Given the description of an element on the screen output the (x, y) to click on. 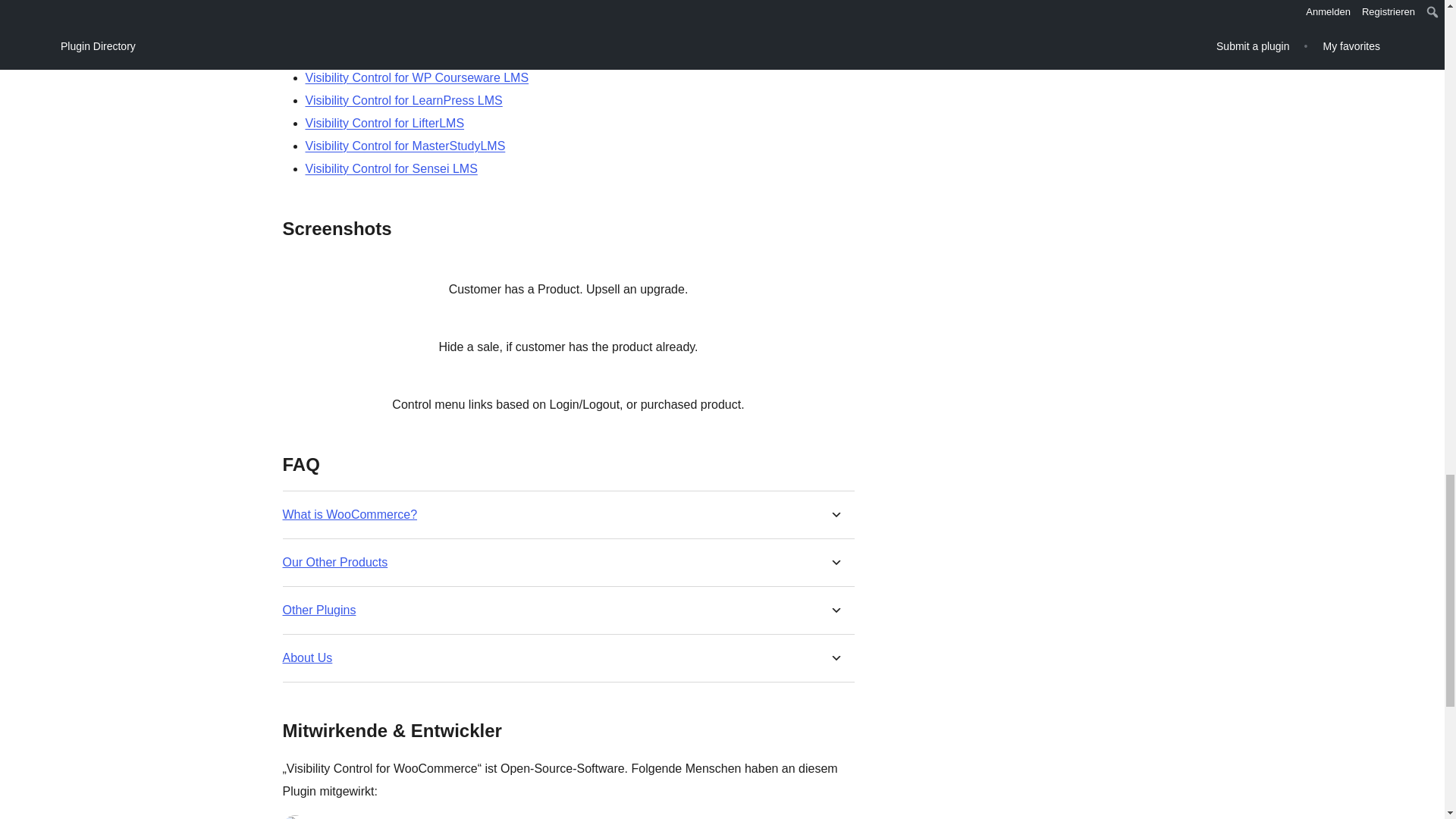
Visibility Control for MasterStudyLMS (404, 145)
Visibility Control for LifterLMS (384, 123)
Visibility Control for WP Courseware LMS (416, 77)
Visibility Control for LearnPress LMS (403, 100)
Visibility Control for LearnDash LMS (401, 54)
Visibility Control for Sensei LMS (390, 168)
